Given the description of an element on the screen output the (x, y) to click on. 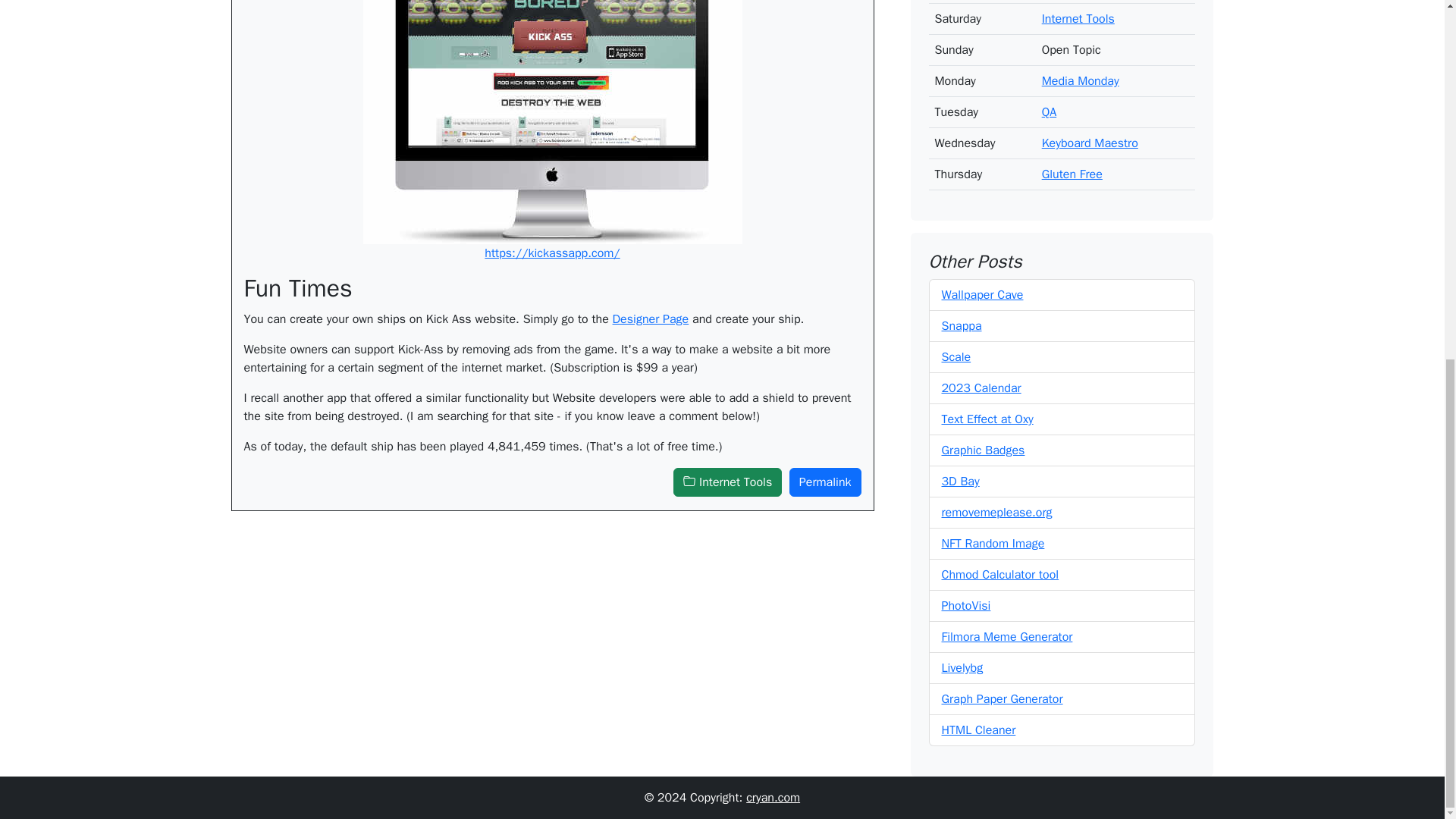
Permalink (825, 481)
cryan.com (772, 797)
Chmod Calculator tool (1000, 562)
Internet Tools (1078, 7)
QA (1049, 99)
Scale (956, 344)
3D Bay (960, 468)
PhotoVisi (966, 593)
removemeplease.org (997, 500)
Livelybg (963, 655)
Gluten Free (1072, 161)
Keyboard Maestro (1090, 130)
2023 Calendar (982, 376)
Graph Paper Generator (1002, 686)
Wallpaper Cave (982, 282)
